Given the description of an element on the screen output the (x, y) to click on. 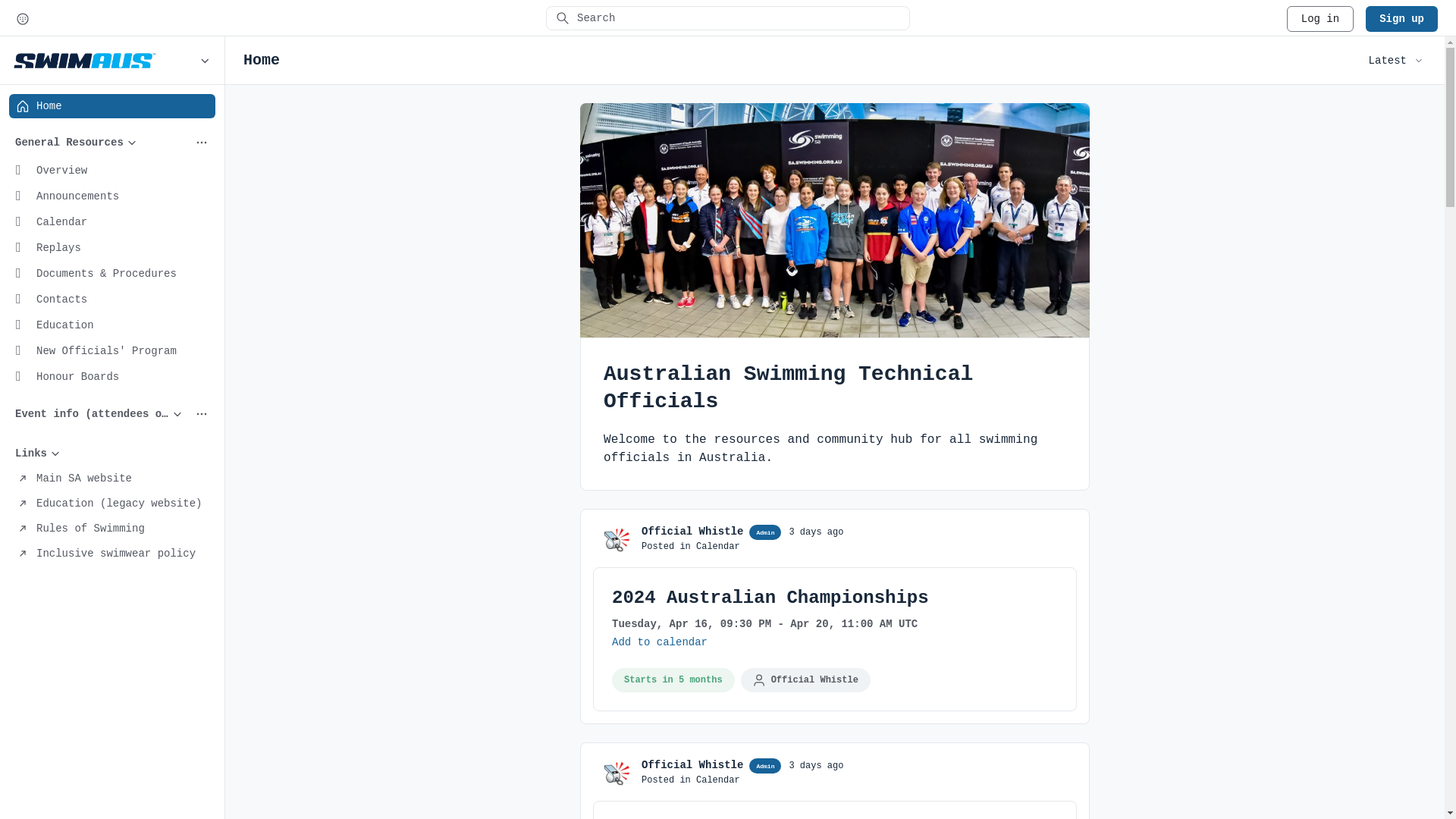
Official Whistle Element type: text (692, 765)
Log in Element type: text (1319, 18)
Add to calendar Element type: text (659, 642)
Main SA website Element type: text (112, 478)
General Resources Element type: text (112, 142)
Rules of Swimming Element type: text (112, 528)
3 days ago Element type: text (815, 765)
Official Whistle Element type: text (692, 531)
Sign up Element type: text (1401, 18)
Event info (attendees only) Element type: text (112, 413)
3 days ago Element type: text (815, 532)
Home Element type: text (112, 106)
Latest Element type: text (1397, 60)
Education (legacy website) Element type: text (112, 503)
2024 Australian Championships Element type: text (769, 598)
Inclusive swimwear policy Element type: text (112, 553)
Links Element type: text (112, 453)
Search Element type: text (728, 18)
